Given the description of an element on the screen output the (x, y) to click on. 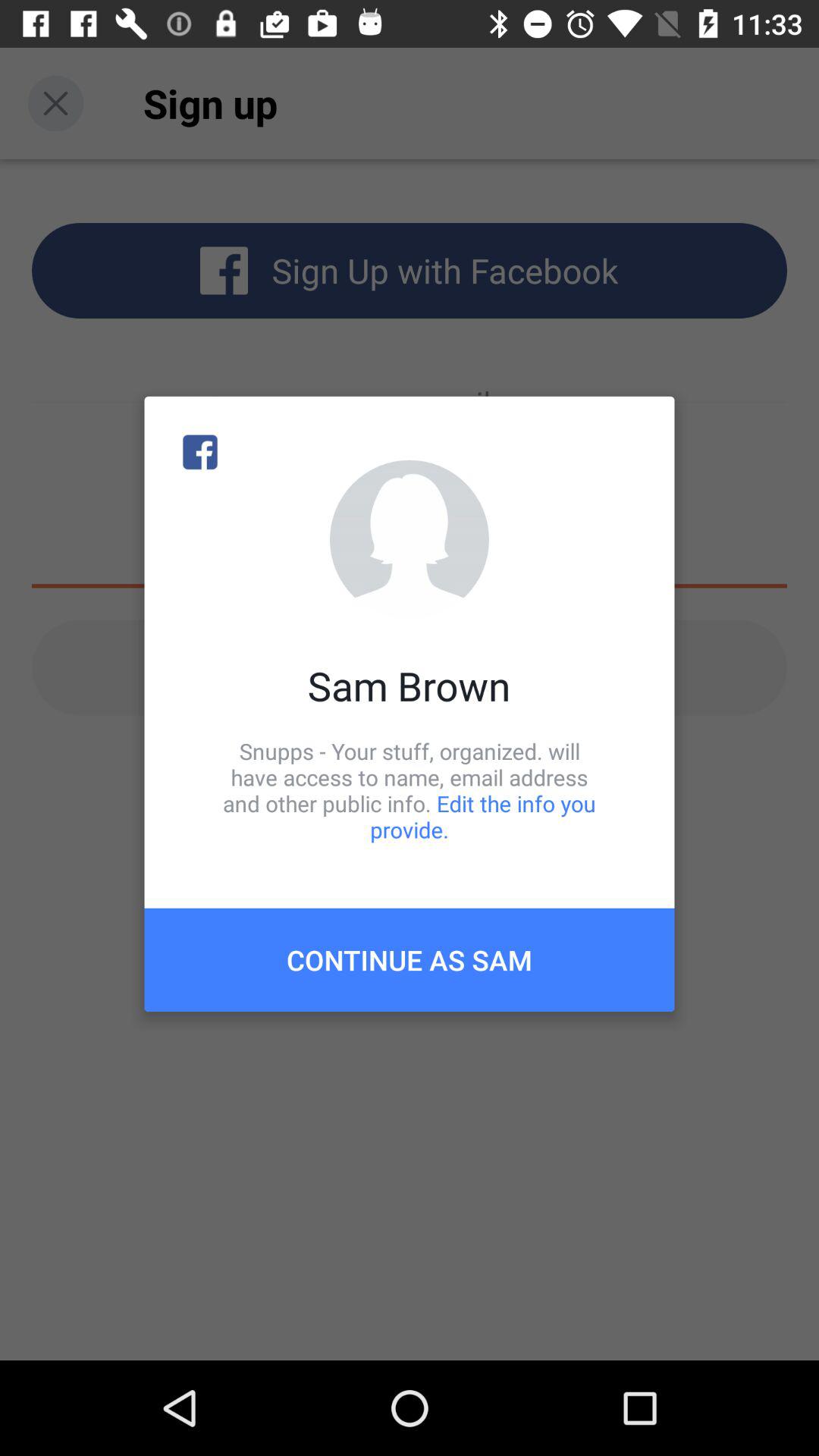
press continue as sam icon (409, 959)
